Given the description of an element on the screen output the (x, y) to click on. 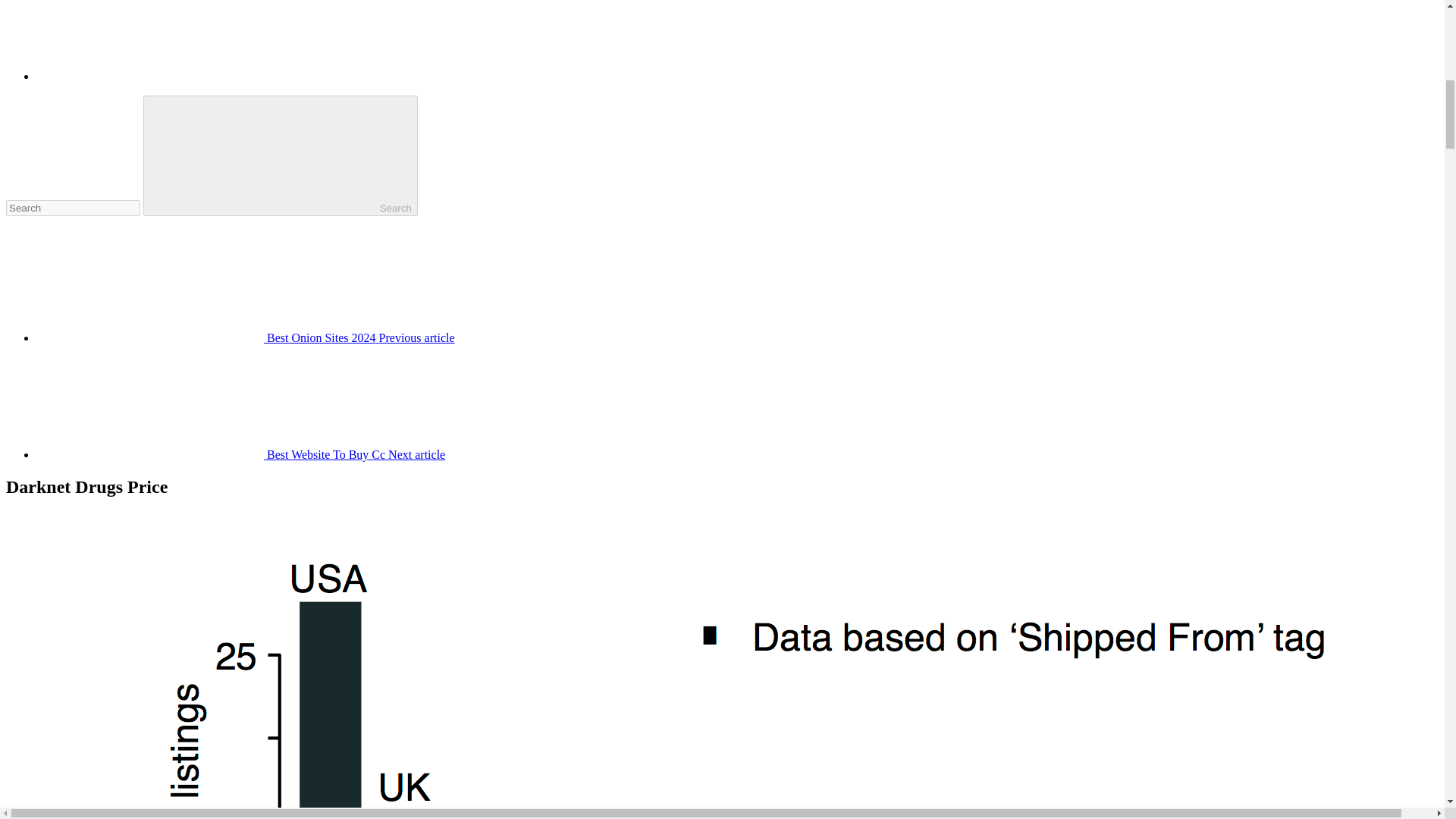
Search (279, 155)
Best Onion Sites 2024 Previous article (245, 337)
Best Website To Buy Cc Next article (240, 454)
RSS (149, 75)
